Given the description of an element on the screen output the (x, y) to click on. 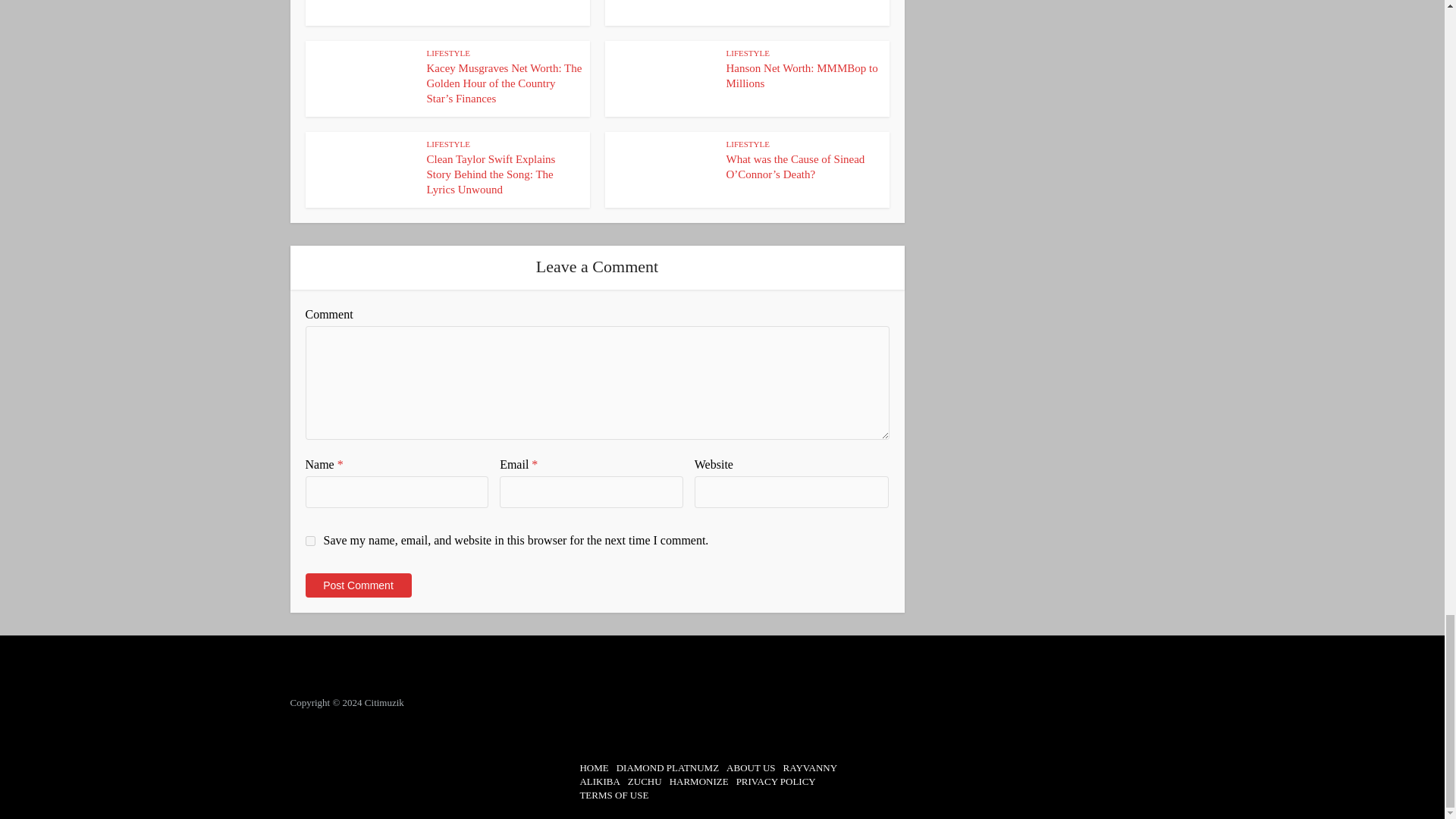
Hanson Net Worth: MMMBop to Millions (801, 75)
yes (309, 541)
Post Comment (357, 585)
